Given the description of an element on the screen output the (x, y) to click on. 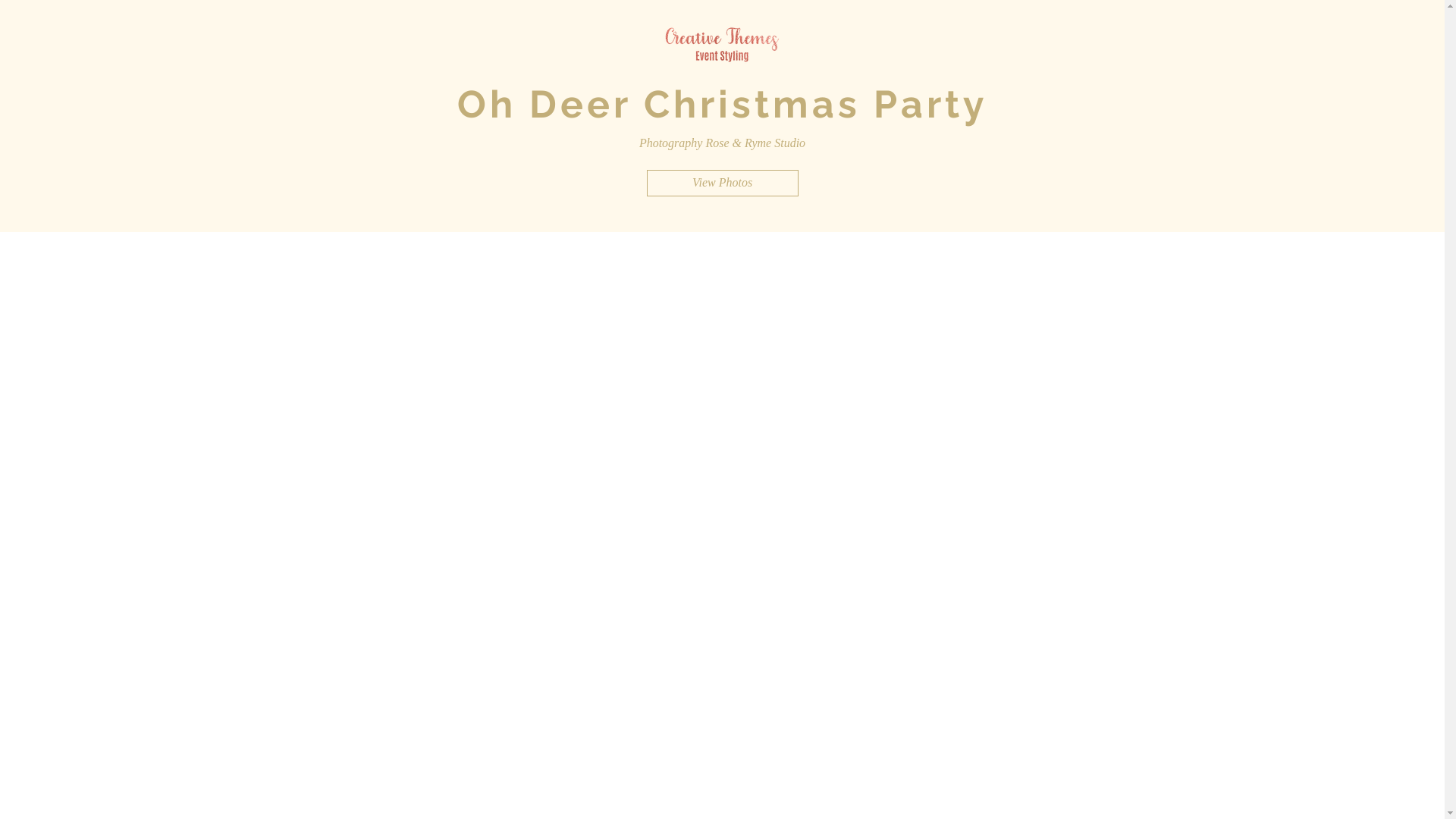
View Photos Element type: text (721, 182)
